Given the description of an element on the screen output the (x, y) to click on. 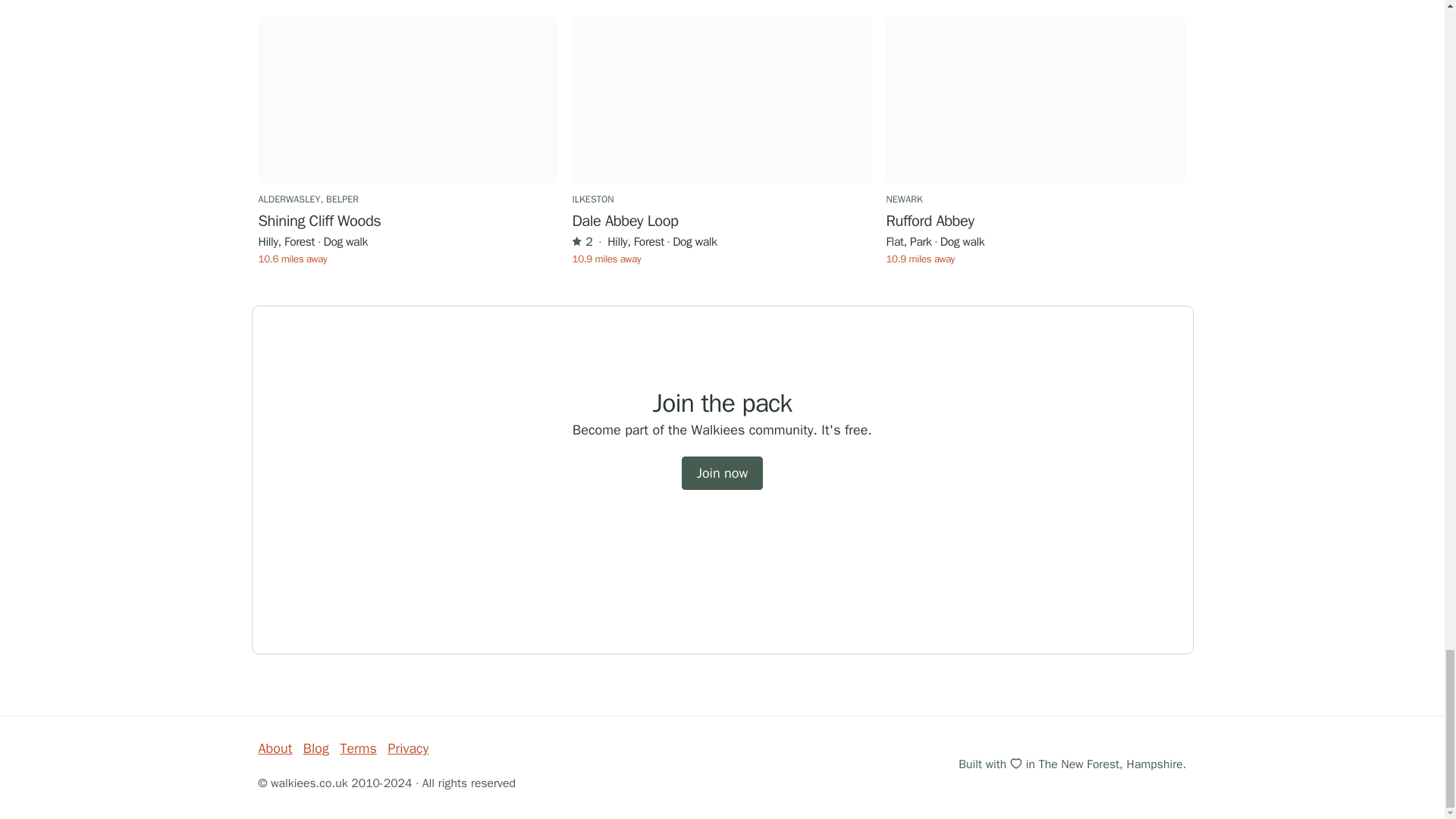
Dog walk at Dale Abbey Loop (722, 100)
Dog walk at Shining Cliff Woods (407, 100)
